Given the description of an element on the screen output the (x, y) to click on. 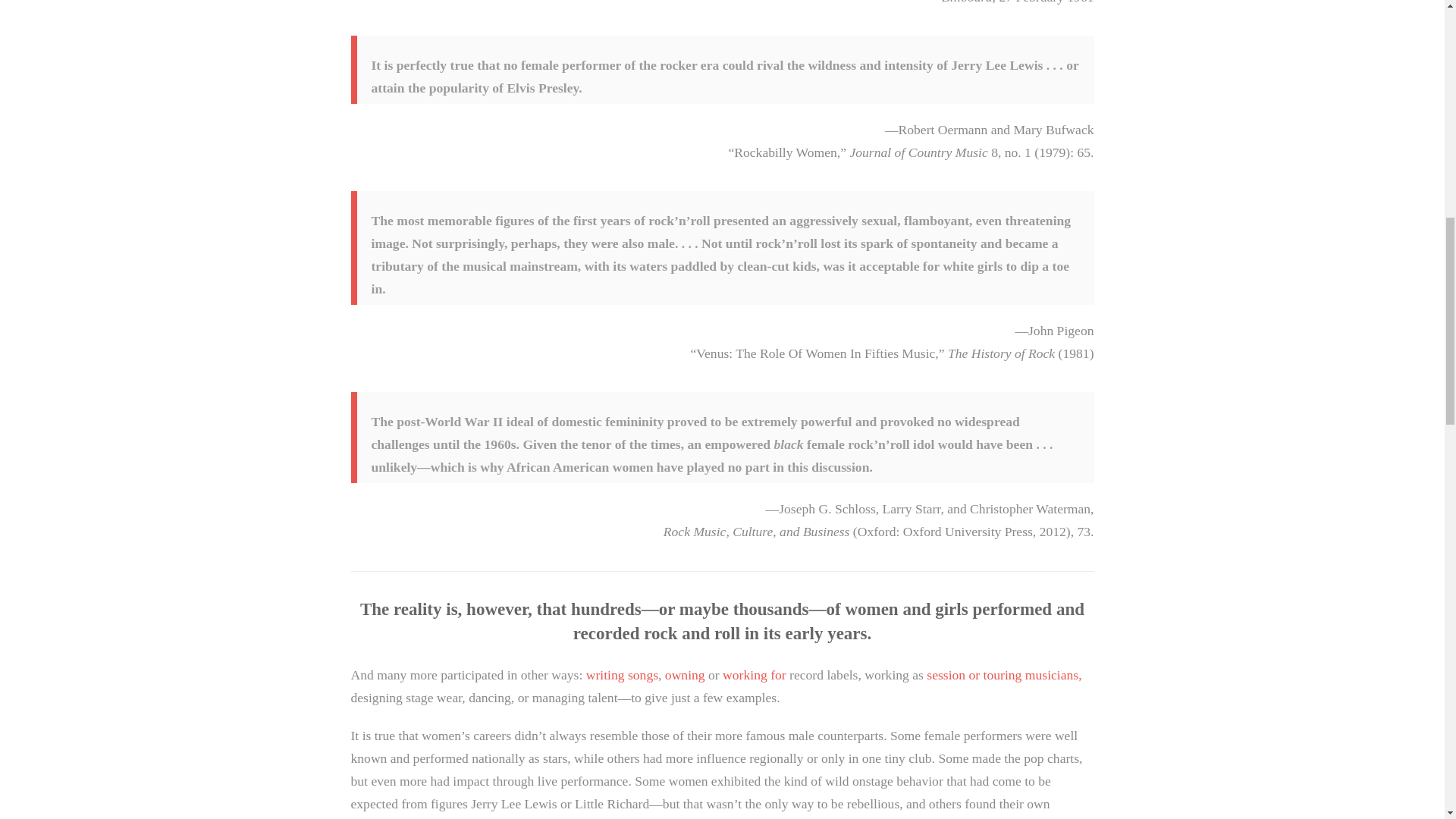
session or touring musicians, (1003, 674)
owning (684, 674)
working for (754, 674)
writing songs (622, 674)
